Given the description of an element on the screen output the (x, y) to click on. 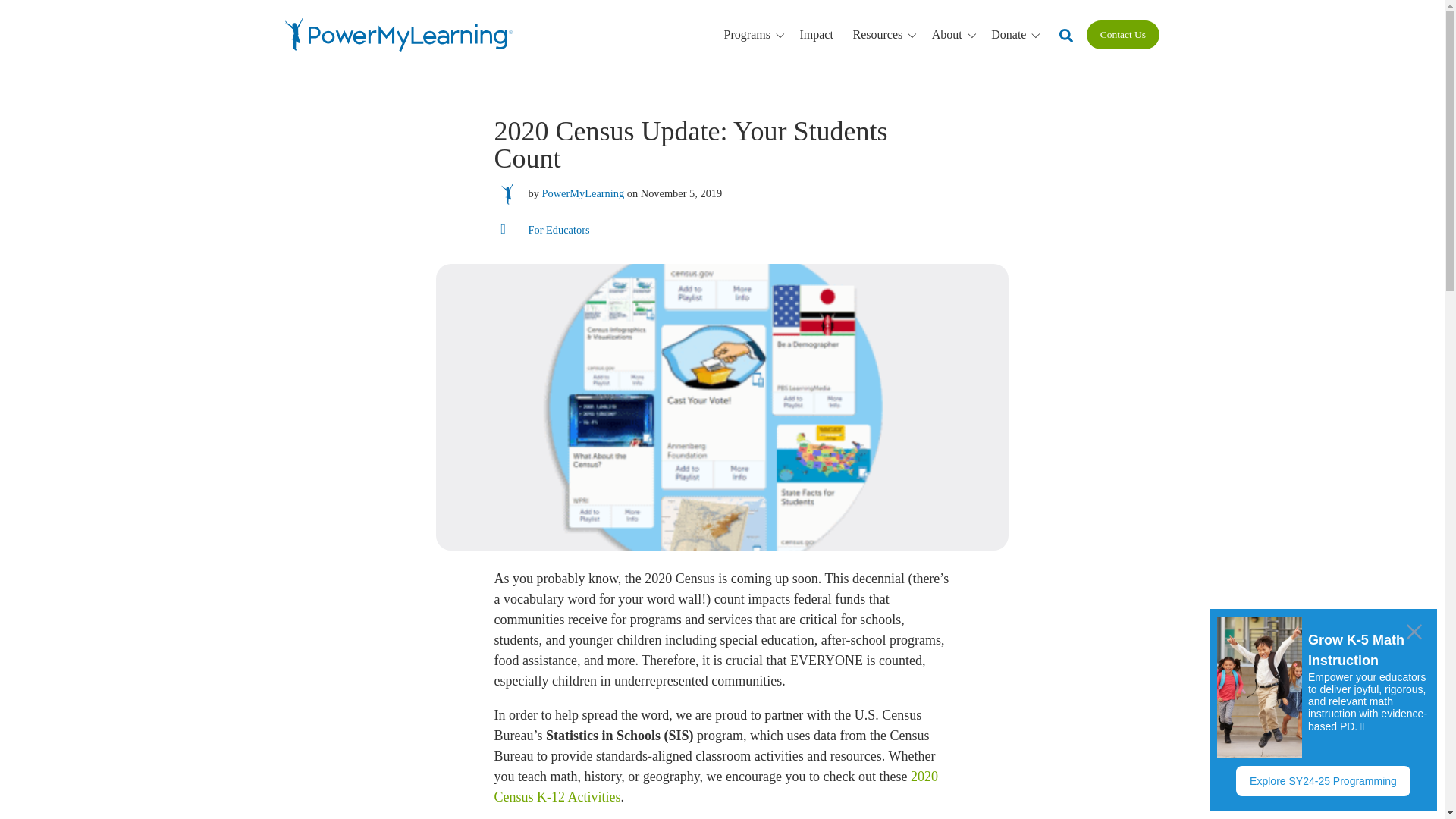
About (956, 34)
Programs (756, 34)
Resources (886, 34)
Donate (1018, 34)
Popup CTA (1323, 710)
PowerMyLearning (582, 193)
PowerMyLearning (398, 34)
Impact (815, 33)
Contact Us (1122, 34)
For Educators (558, 229)
2020 Census K-12 Activities (715, 786)
